Given the description of an element on the screen output the (x, y) to click on. 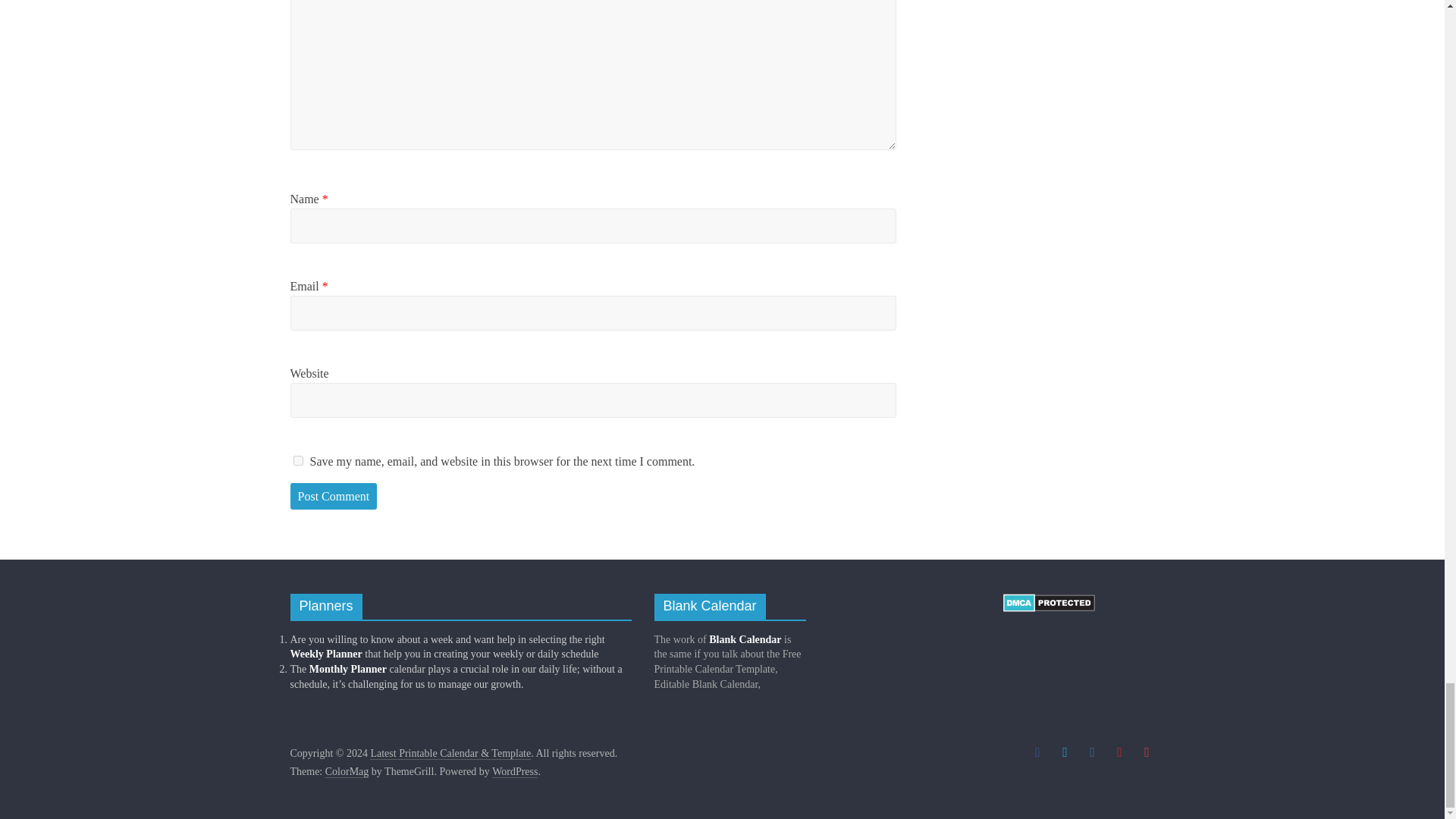
yes (297, 460)
Post Comment (333, 496)
